Given the description of an element on the screen output the (x, y) to click on. 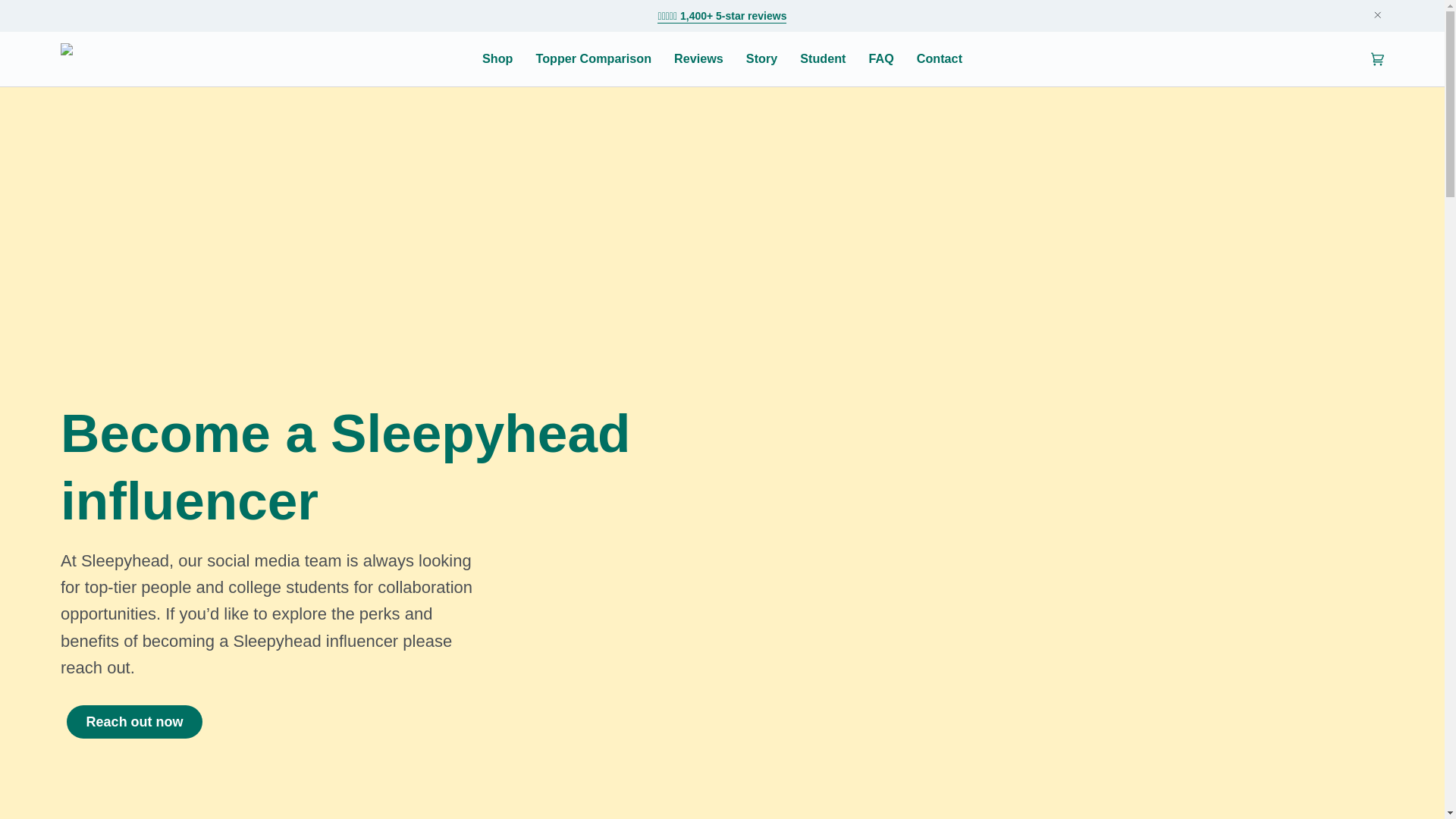
Student (823, 58)
Topper Comparison (593, 58)
Reviews (698, 58)
Story (762, 58)
Shop (497, 58)
FAQ (880, 58)
Reach out now (134, 722)
Reviews (722, 15)
Contact (939, 58)
